Given the description of an element on the screen output the (x, y) to click on. 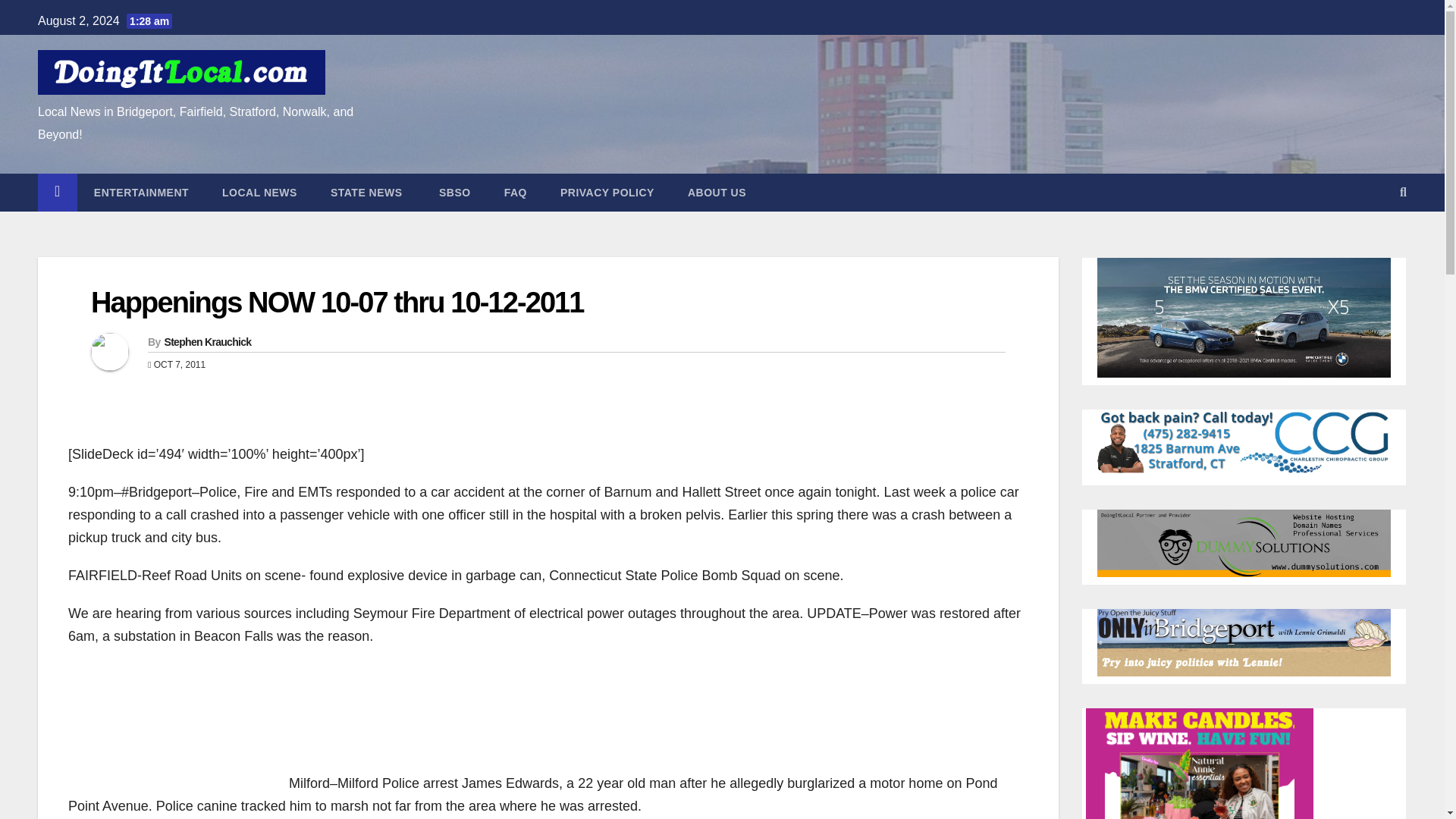
Local News (259, 192)
ABOUT US (716, 192)
Small Buisness Shout Out (453, 192)
FAQ (515, 192)
LOCAL NEWS (259, 192)
PRIVACY POLICY (607, 192)
Privacy Policy (607, 192)
 SBSO (453, 192)
Happenings NOW 10-07 thru 10-12-2011 (336, 302)
ENTERTAINMENT (141, 192)
Stephen Krauchick (206, 341)
STATE NEWS (366, 192)
FAQ (515, 192)
State News (366, 192)
Home (57, 192)
